Given the description of an element on the screen output the (x, y) to click on. 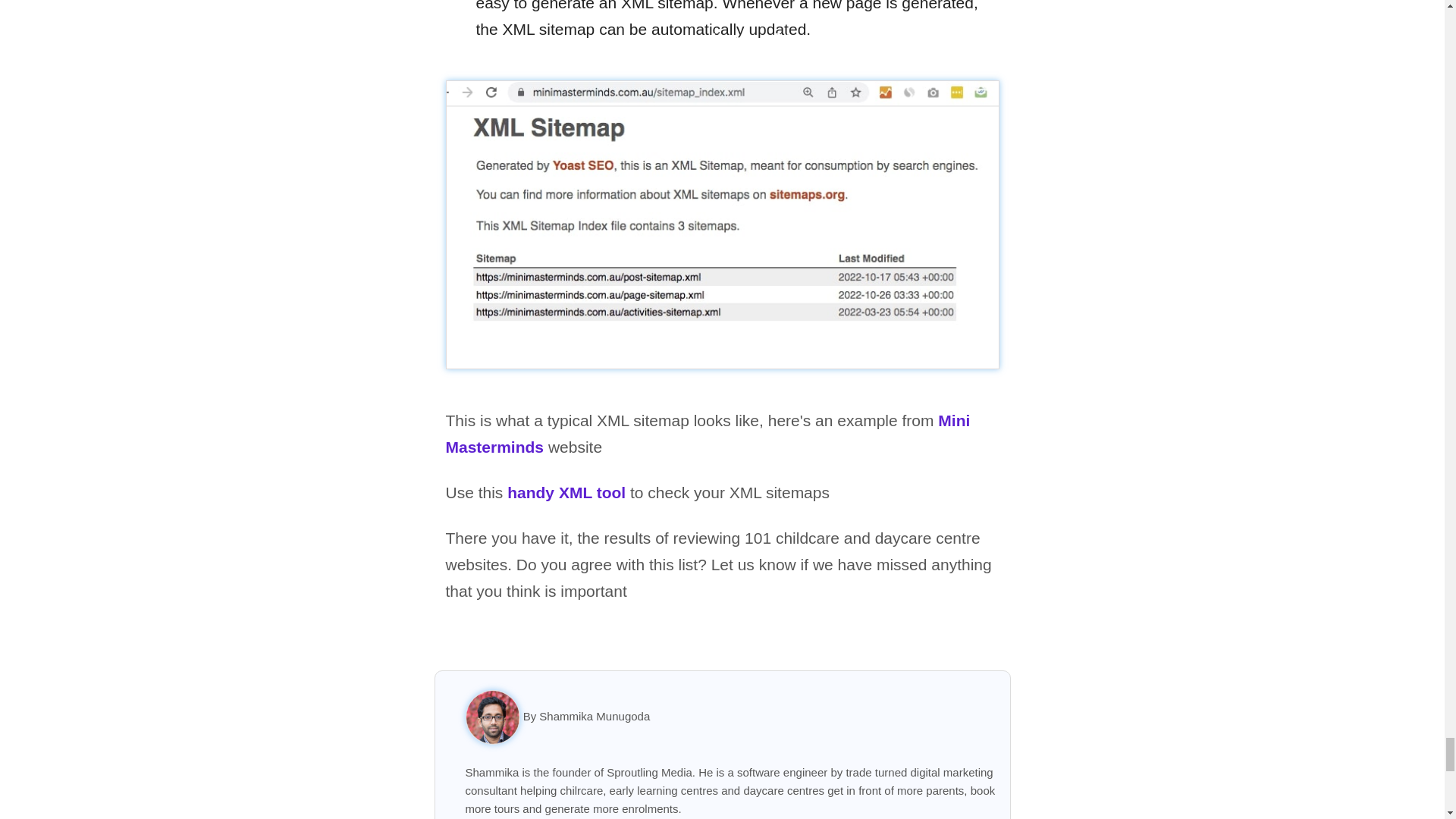
Mini Masterminds (708, 433)
handy XML tool (566, 492)
